Given the description of an element on the screen output the (x, y) to click on. 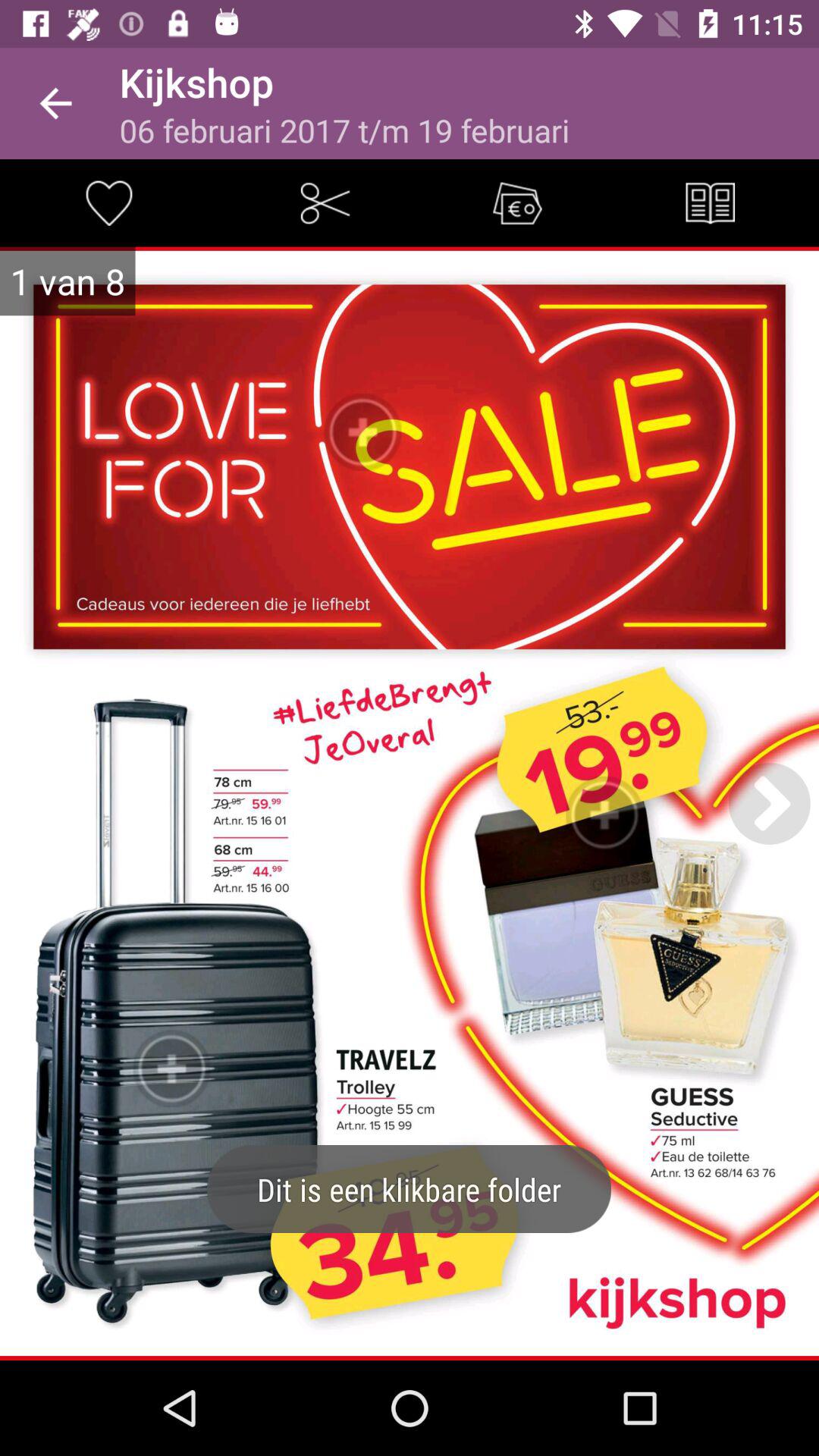
tap item at the top right corner (710, 202)
